Given the description of an element on the screen output the (x, y) to click on. 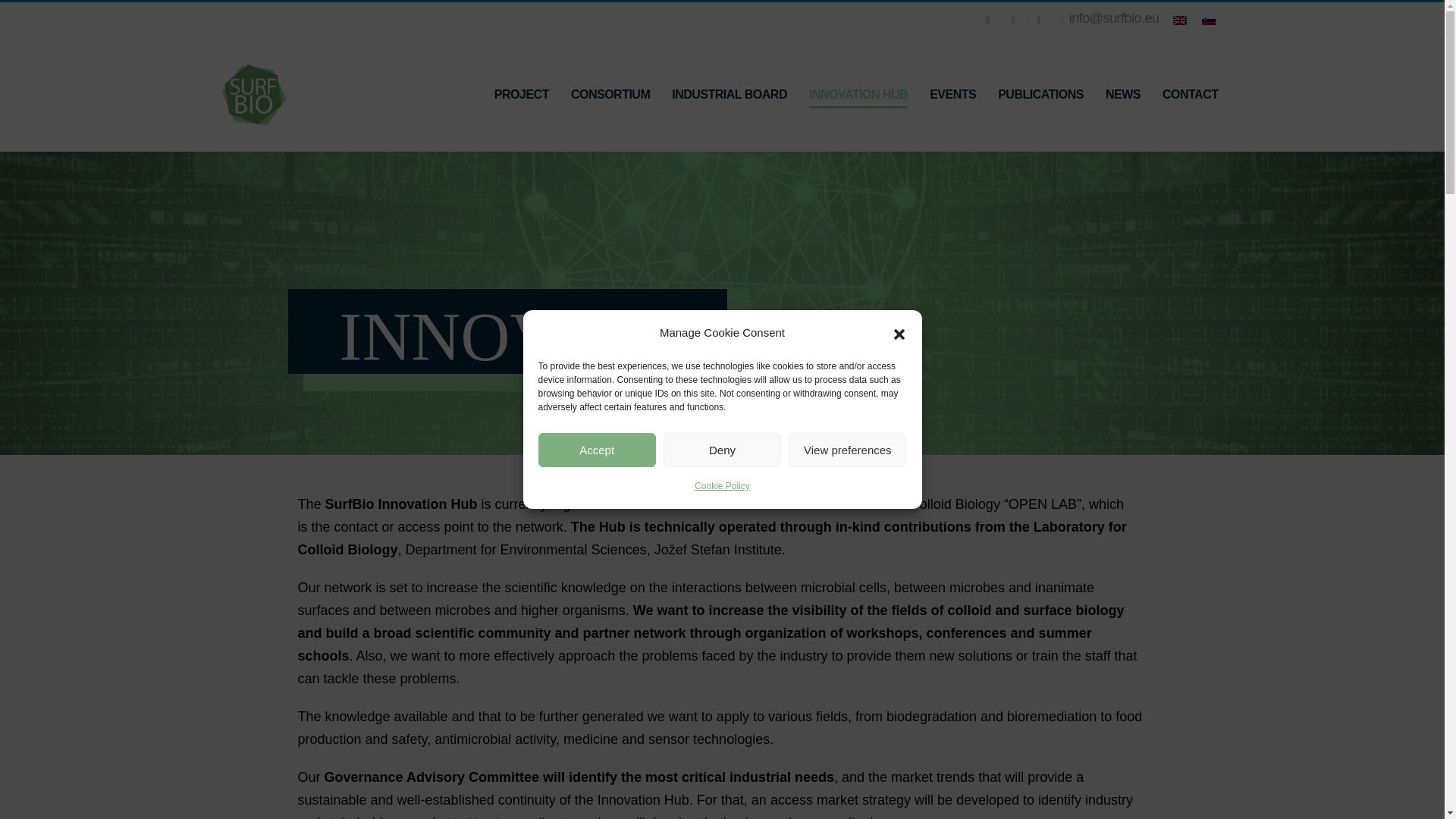
Cookie Policy (721, 486)
Twitter (1013, 20)
View preferences (847, 449)
CONTACT (1189, 94)
LinkedIn (1038, 20)
Accept (597, 449)
PUBLICATIONS (1040, 94)
Deny (721, 449)
Facebook (987, 20)
